Given the description of an element on the screen output the (x, y) to click on. 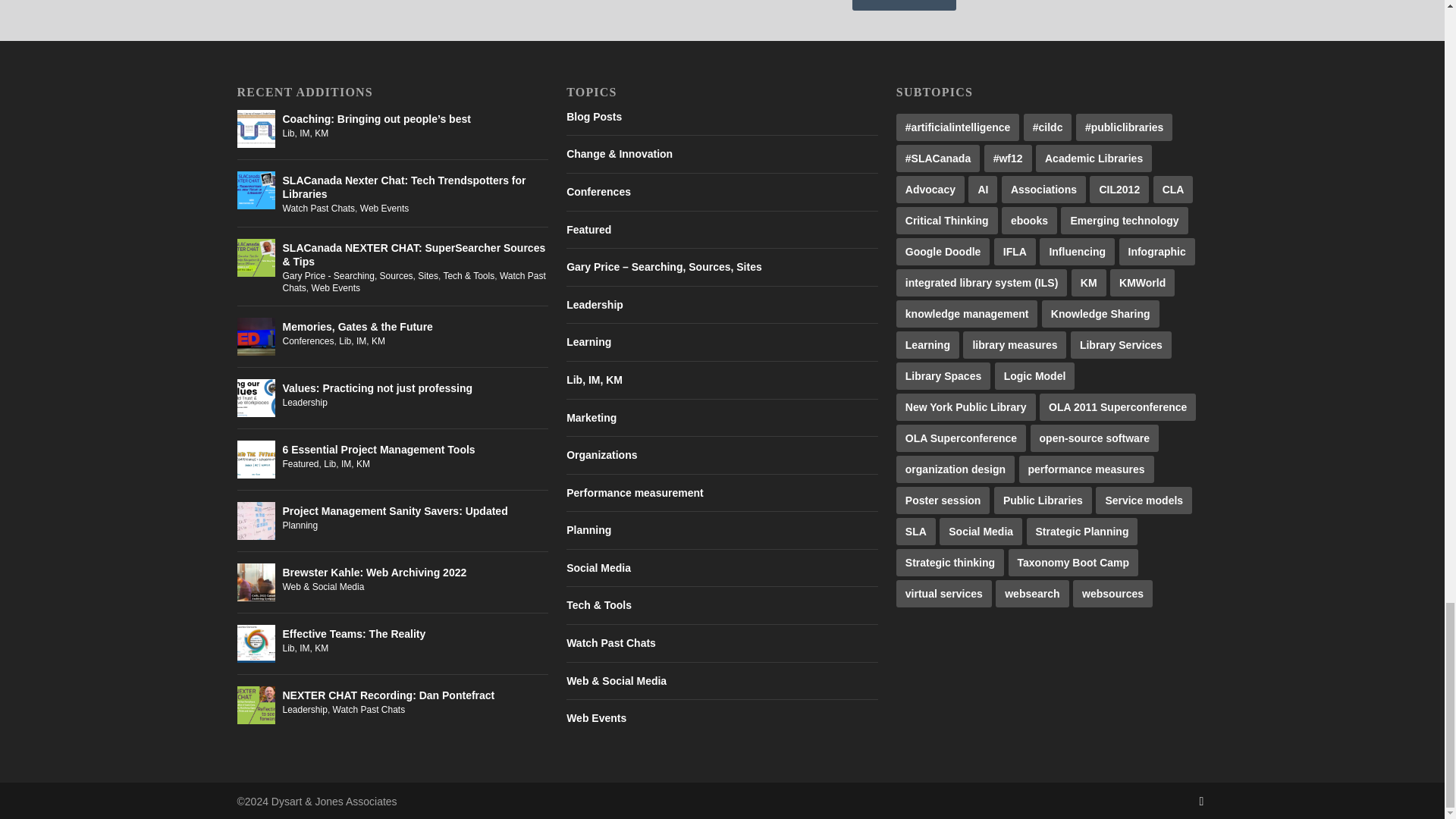
Post Comment (903, 5)
